Given the description of an element on the screen output the (x, y) to click on. 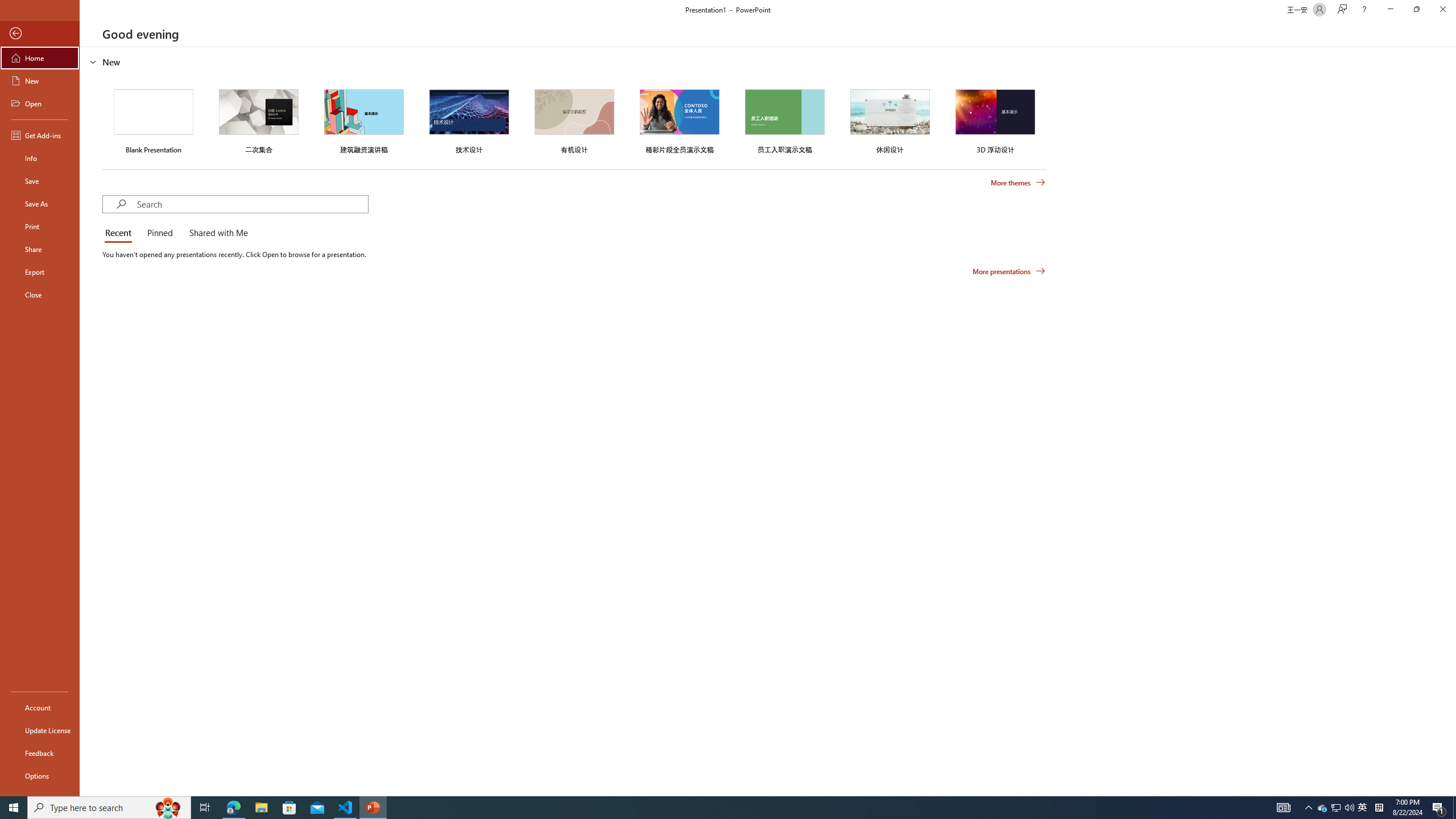
Shared with Me (215, 233)
Recent (119, 233)
Print (40, 225)
Account (40, 707)
Get Add-ins (40, 134)
Feedback (40, 753)
Pinned (159, 233)
